Given the description of an element on the screen output the (x, y) to click on. 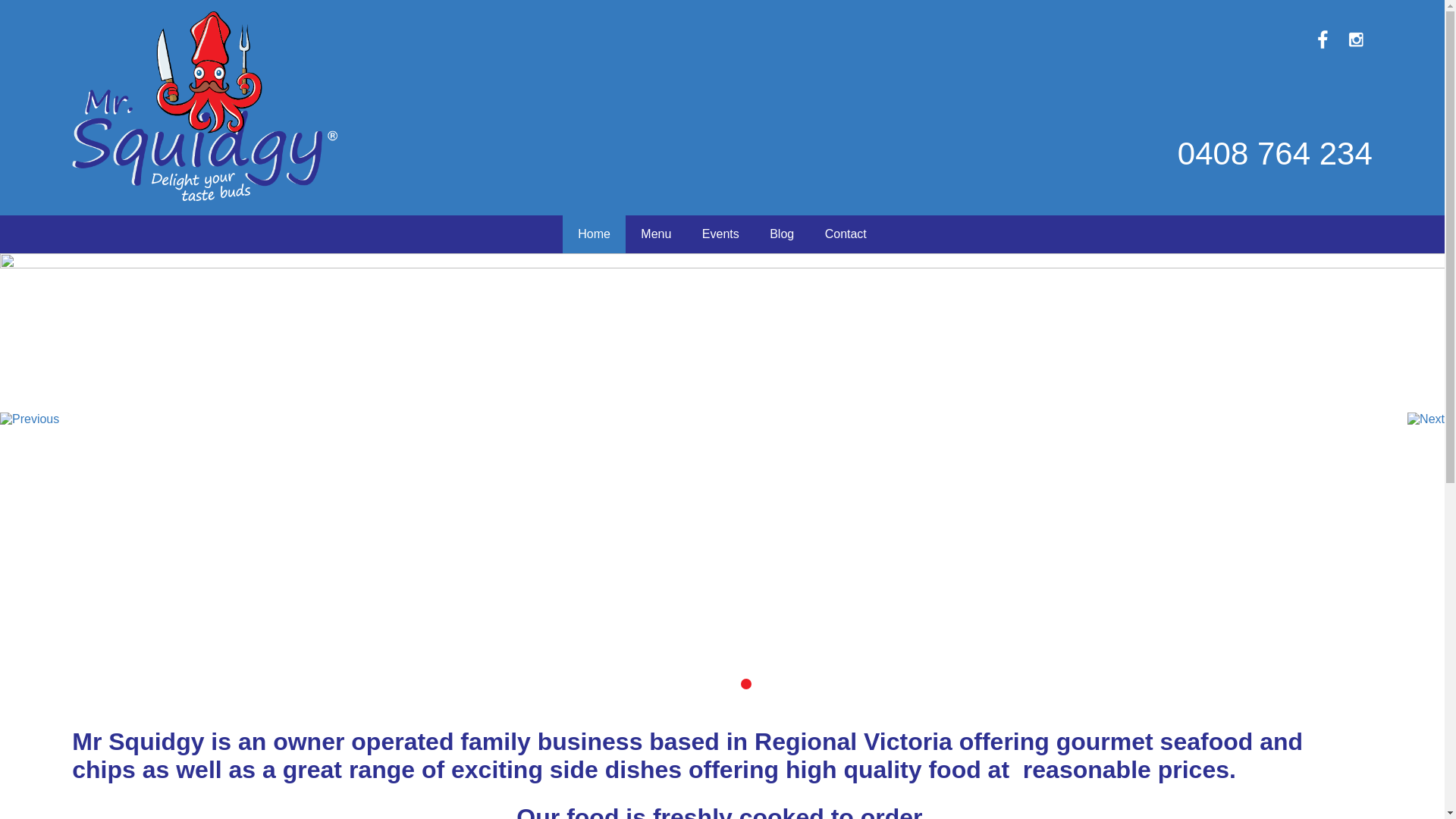
Home Element type: text (593, 234)
Blog Element type: text (781, 234)
0408 764 234 Element type: text (1112, 153)
Events Element type: text (720, 234)
Menu Element type: text (655, 234)
Follow us on Facebook Element type: hover (1322, 39)
Previous Element type: hover (29, 419)
Next Element type: hover (1425, 419)
View our Instagram Gallery Element type: hover (1355, 39)
Contact Element type: text (845, 234)
Mr Squidgy Element type: hover (204, 105)
